Given the description of an element on the screen output the (x, y) to click on. 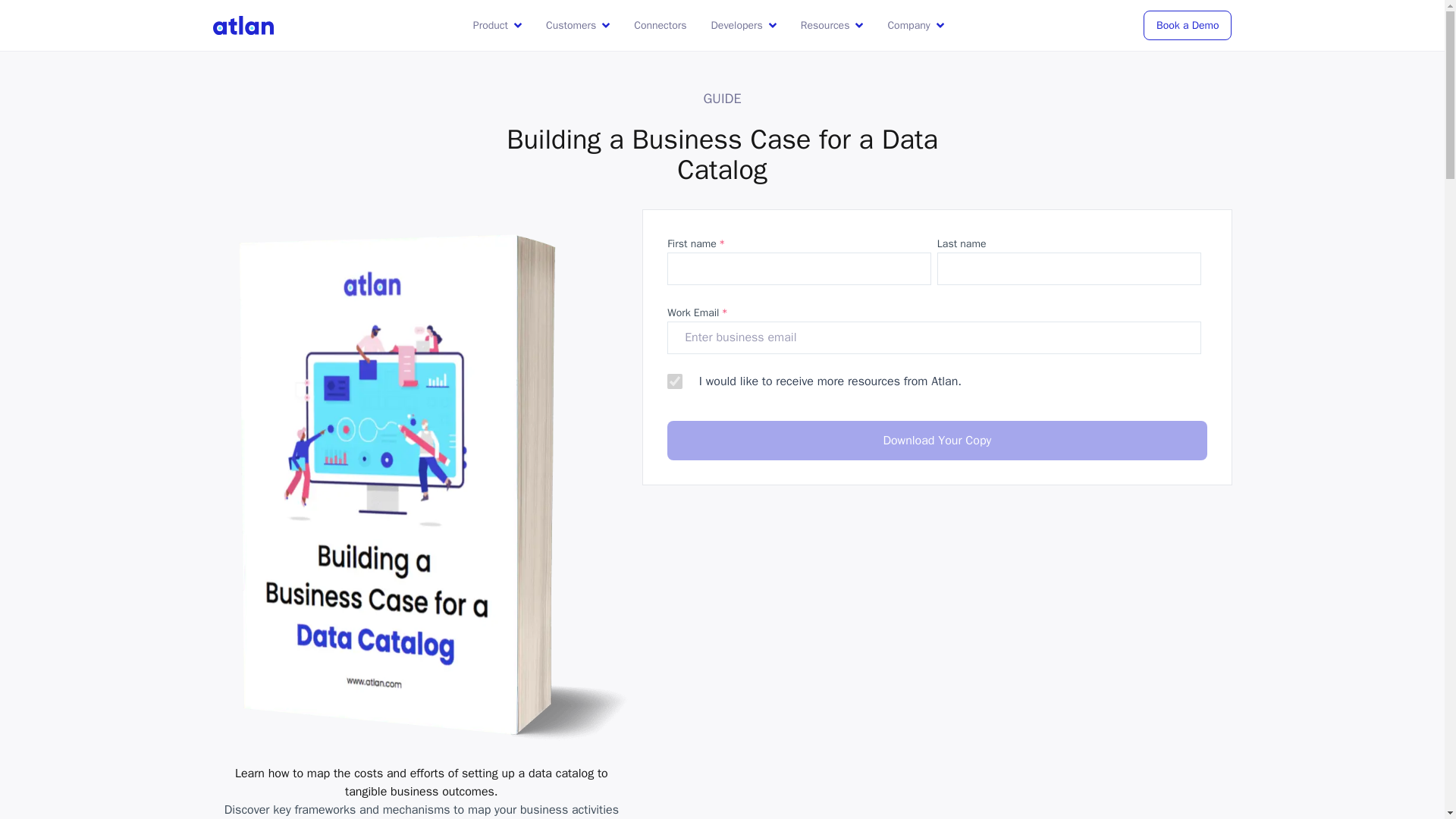
Download Your Copy (936, 440)
true (674, 381)
Connectors (659, 25)
